Given the description of an element on the screen output the (x, y) to click on. 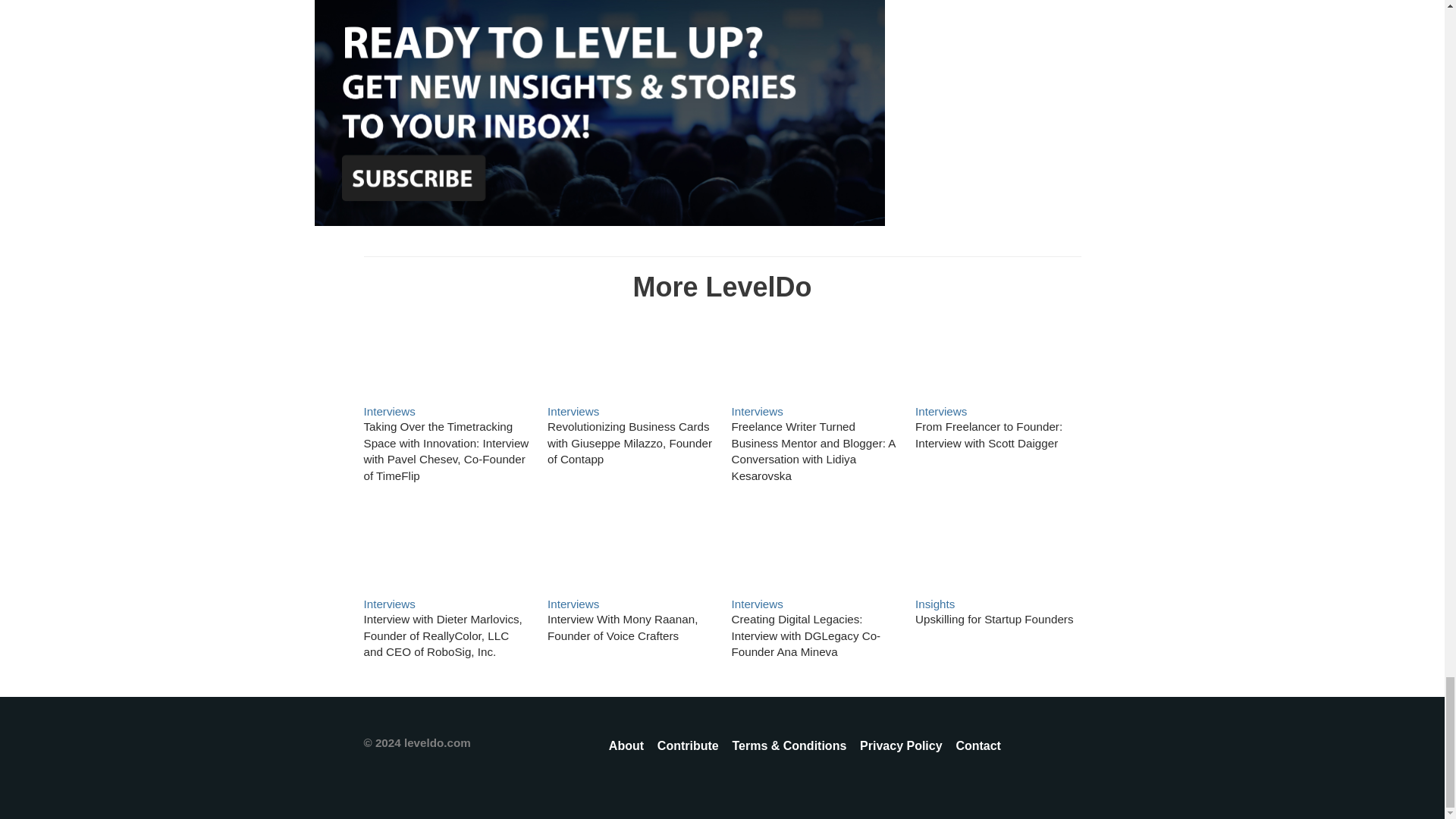
Read More in Interviews (389, 410)
Read More (629, 443)
Read More (630, 355)
Read More (446, 547)
Read More (988, 434)
Read More (446, 451)
Read More in Interviews (389, 603)
Read More (630, 547)
Read More (998, 355)
Read More (813, 355)
Read More in Interviews (572, 410)
Read More (443, 635)
Read More in Interviews (940, 410)
Read More in Interviews (756, 410)
Read More (812, 451)
